Given the description of an element on the screen output the (x, y) to click on. 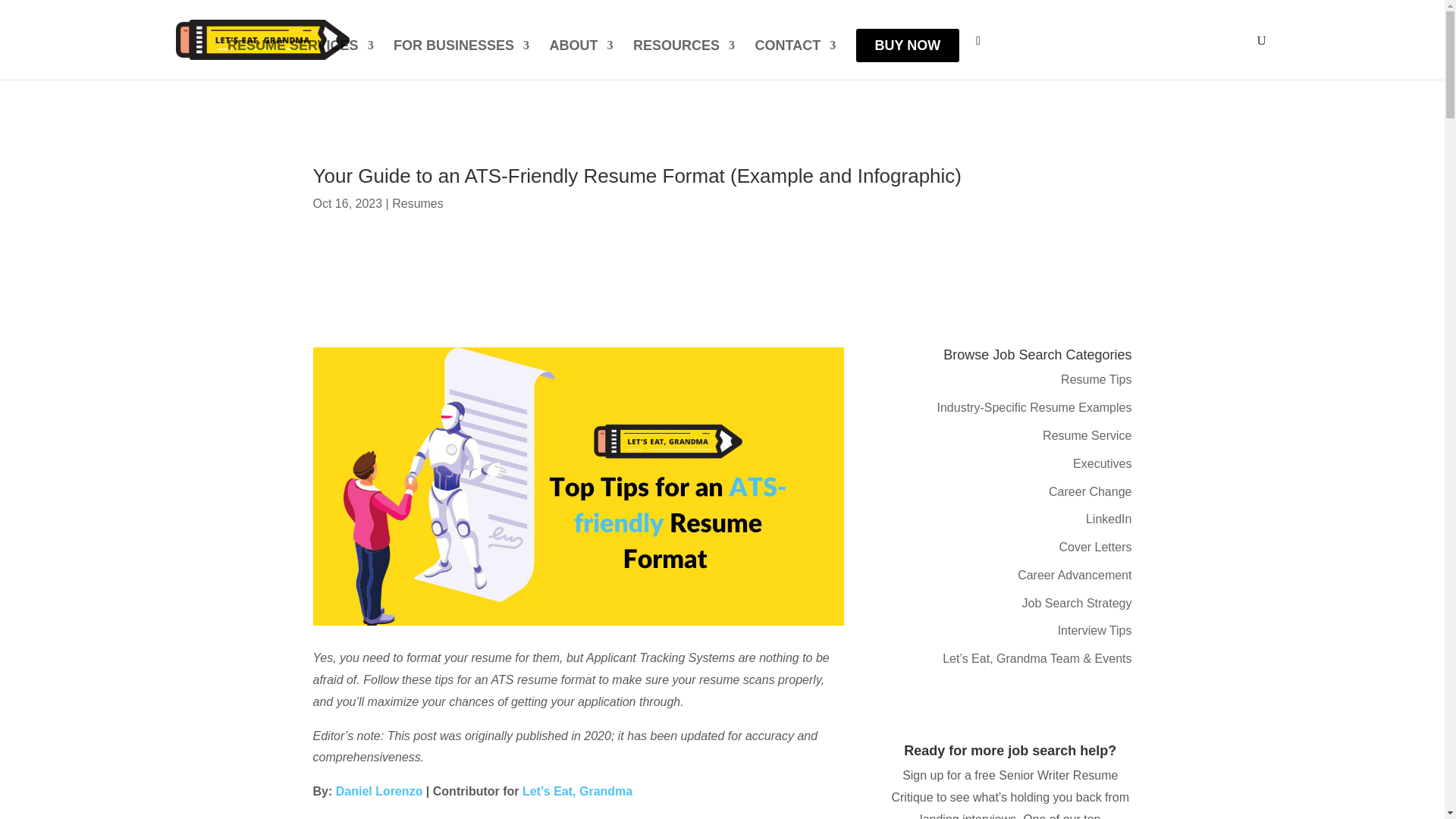
BUY NOW (907, 45)
FOR BUSINESSES (461, 59)
RESUME SERVICES (300, 59)
ABOUT (581, 59)
RESOURCES (684, 59)
CONTACT (795, 59)
